Given the description of an element on the screen output the (x, y) to click on. 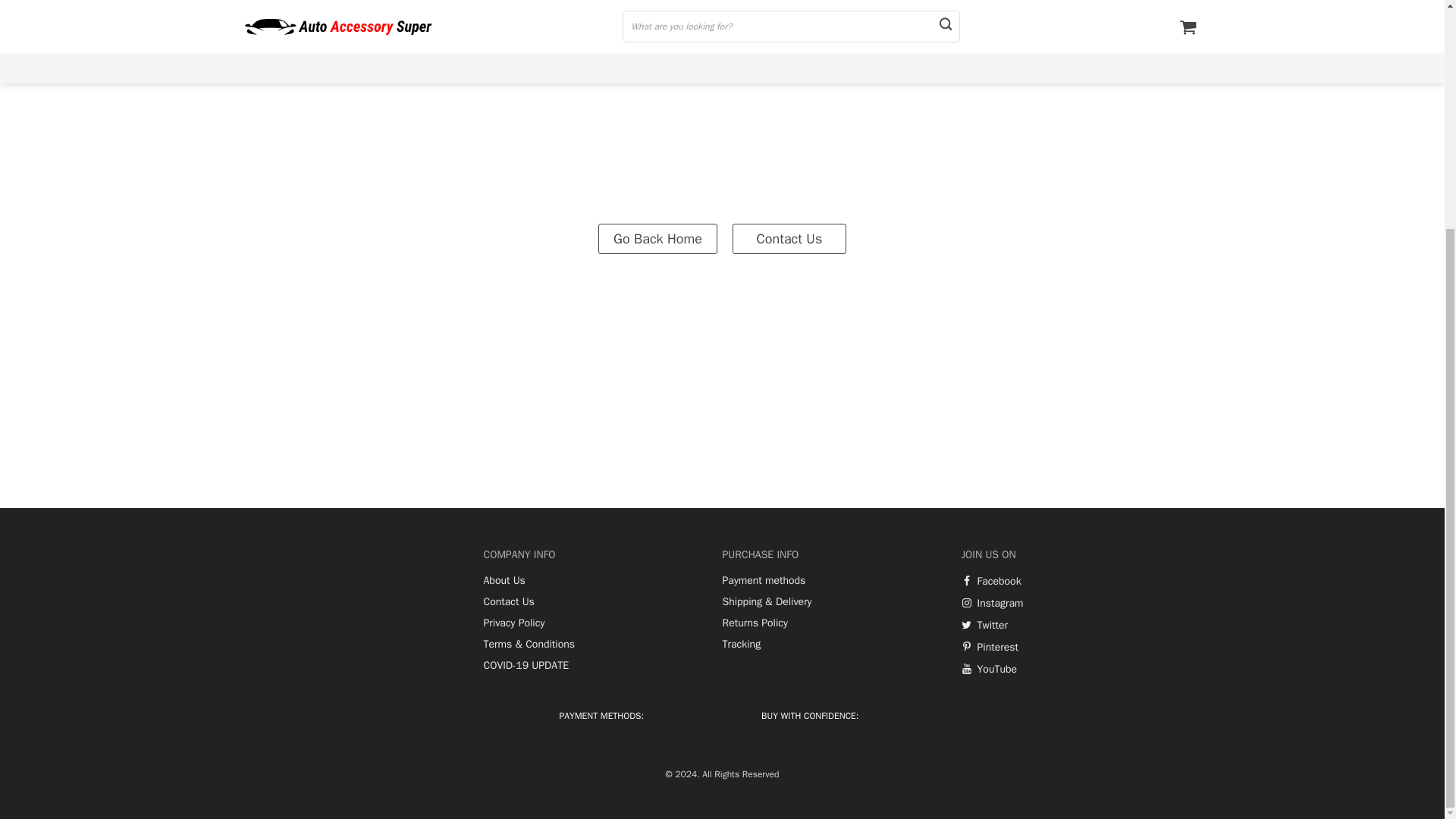
About Us (504, 581)
Tracking (741, 644)
Go Back Home (657, 237)
Pinterest (989, 647)
Contact Us (788, 237)
Returns Policy (754, 622)
Twitter (984, 625)
Payment methods (763, 581)
Facebook (991, 581)
Instagram (991, 603)
